Given the description of an element on the screen output the (x, y) to click on. 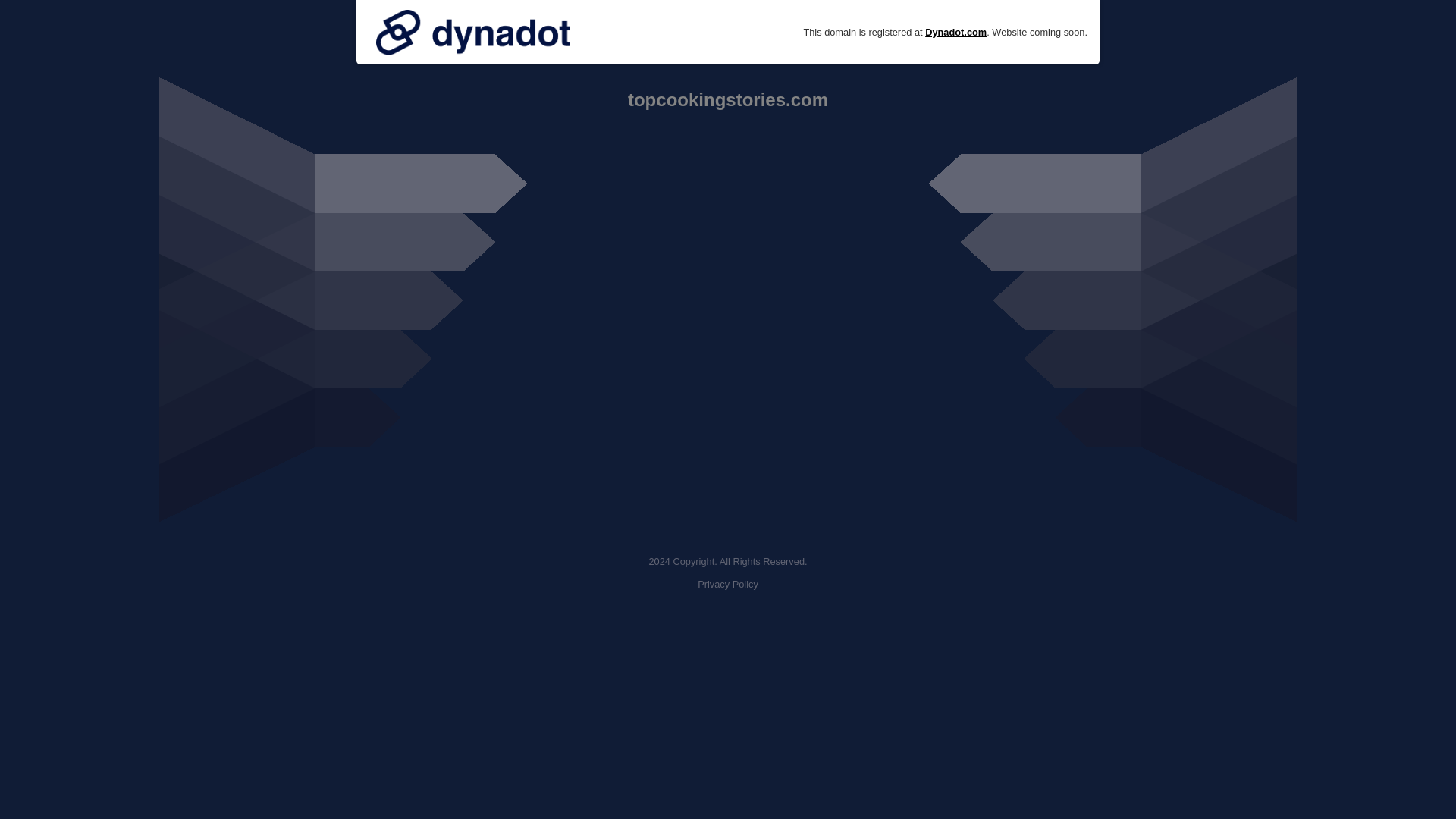
Dynadot.com (955, 31)
Domain managed at Dynadot.com (473, 31)
Privacy Policy (727, 583)
